Given the description of an element on the screen output the (x, y) to click on. 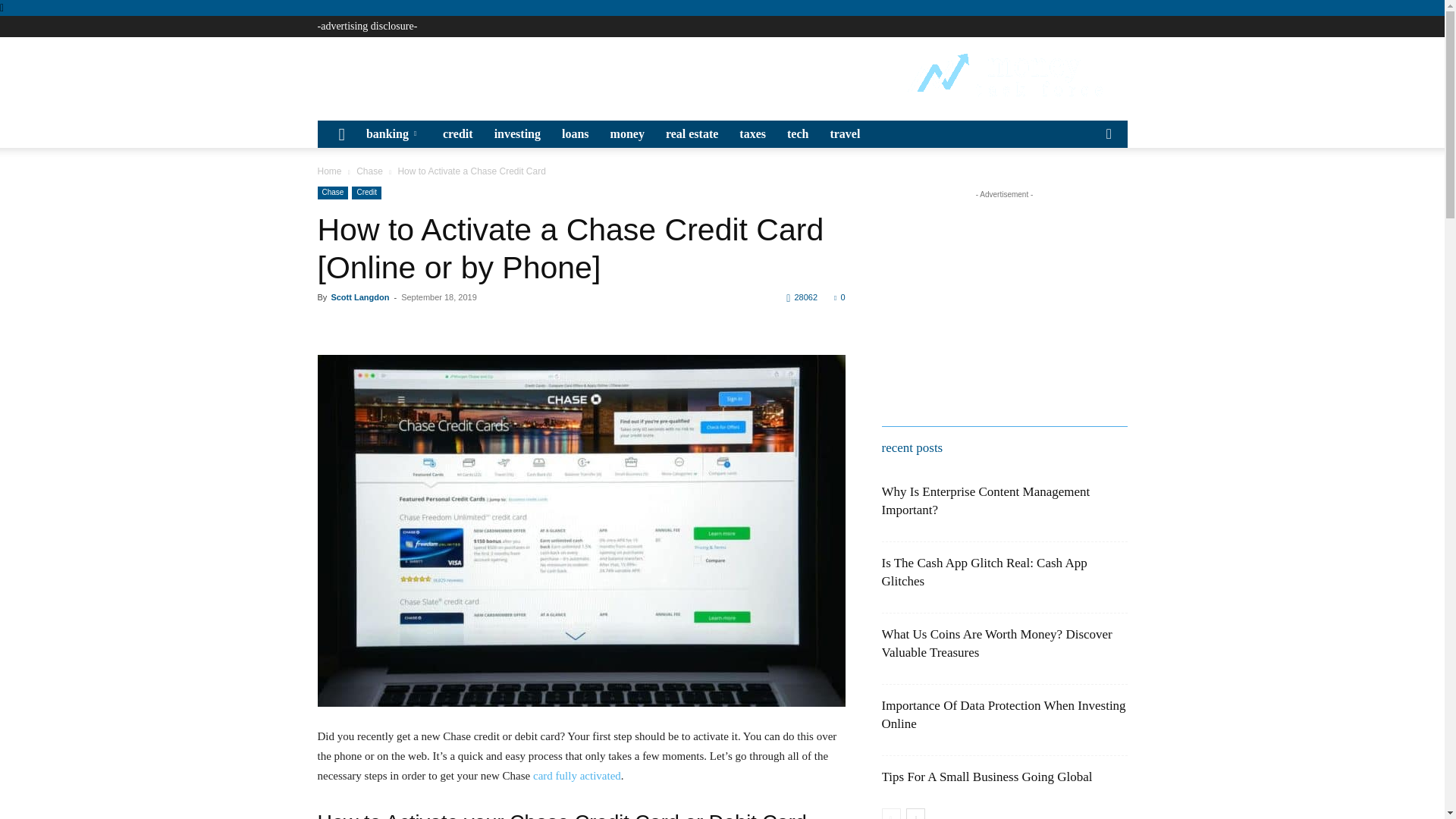
travel (844, 134)
credit (457, 134)
Home (328, 171)
banking (393, 134)
loans (575, 134)
taxes (752, 134)
tech (797, 134)
Chase (332, 192)
topFacebookLike (430, 324)
Chase (369, 171)
real estate (692, 134)
money (627, 134)
-advertising disclosure- (366, 25)
investing (517, 134)
Advertisement (593, 74)
